Given the description of an element on the screen output the (x, y) to click on. 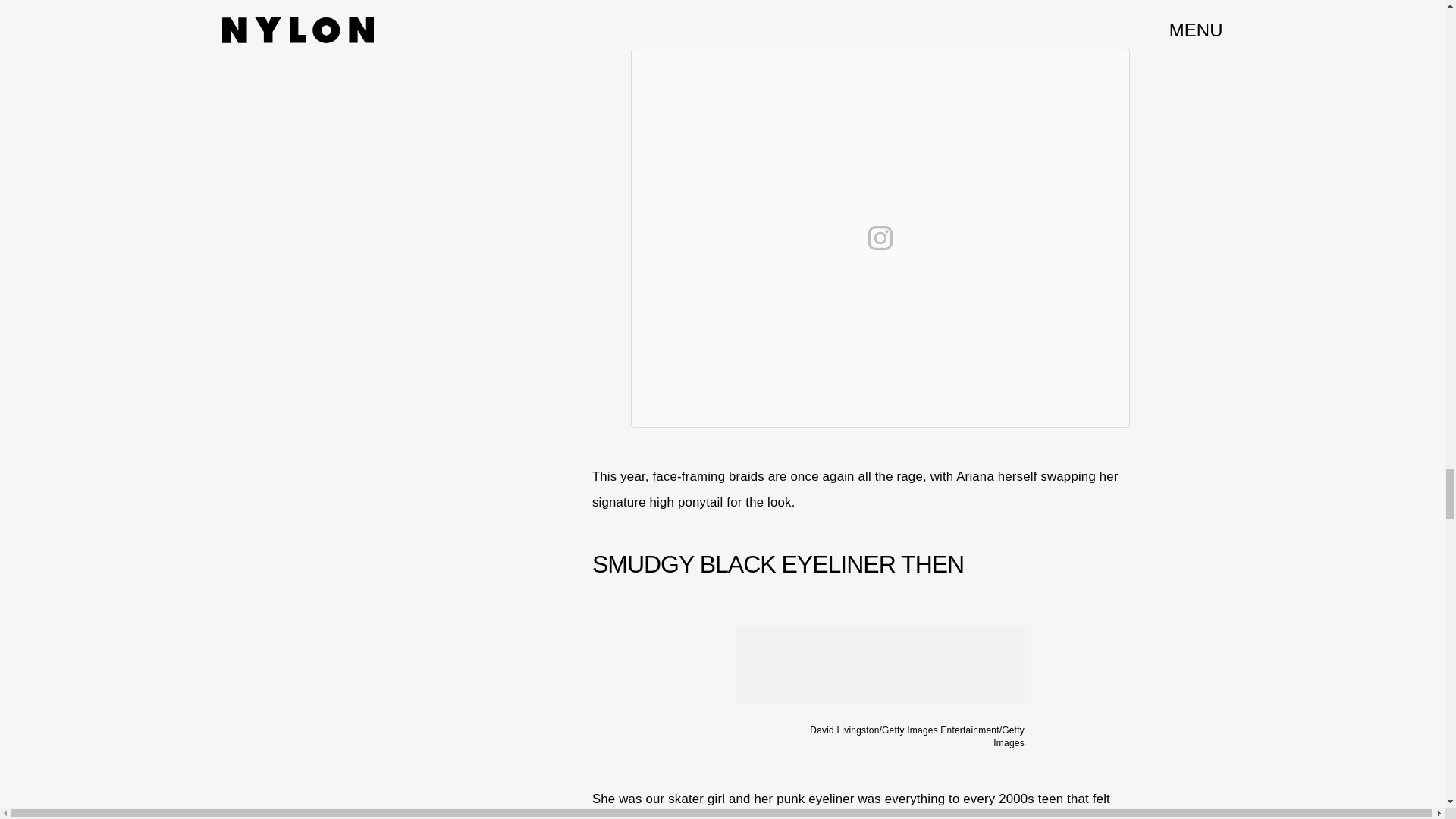
View on Instagram (879, 238)
